Given the description of an element on the screen output the (x, y) to click on. 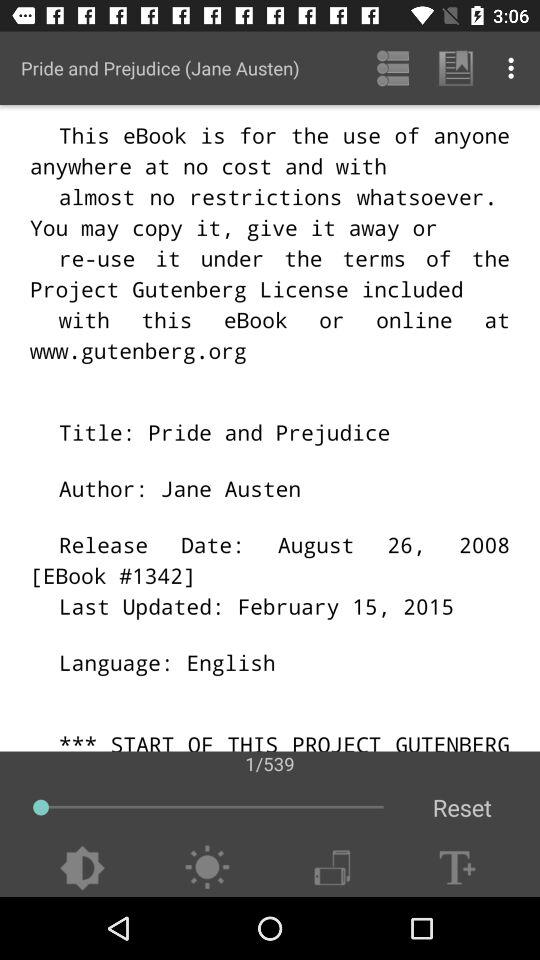
tap button below the reset button (457, 867)
